Given the description of an element on the screen output the (x, y) to click on. 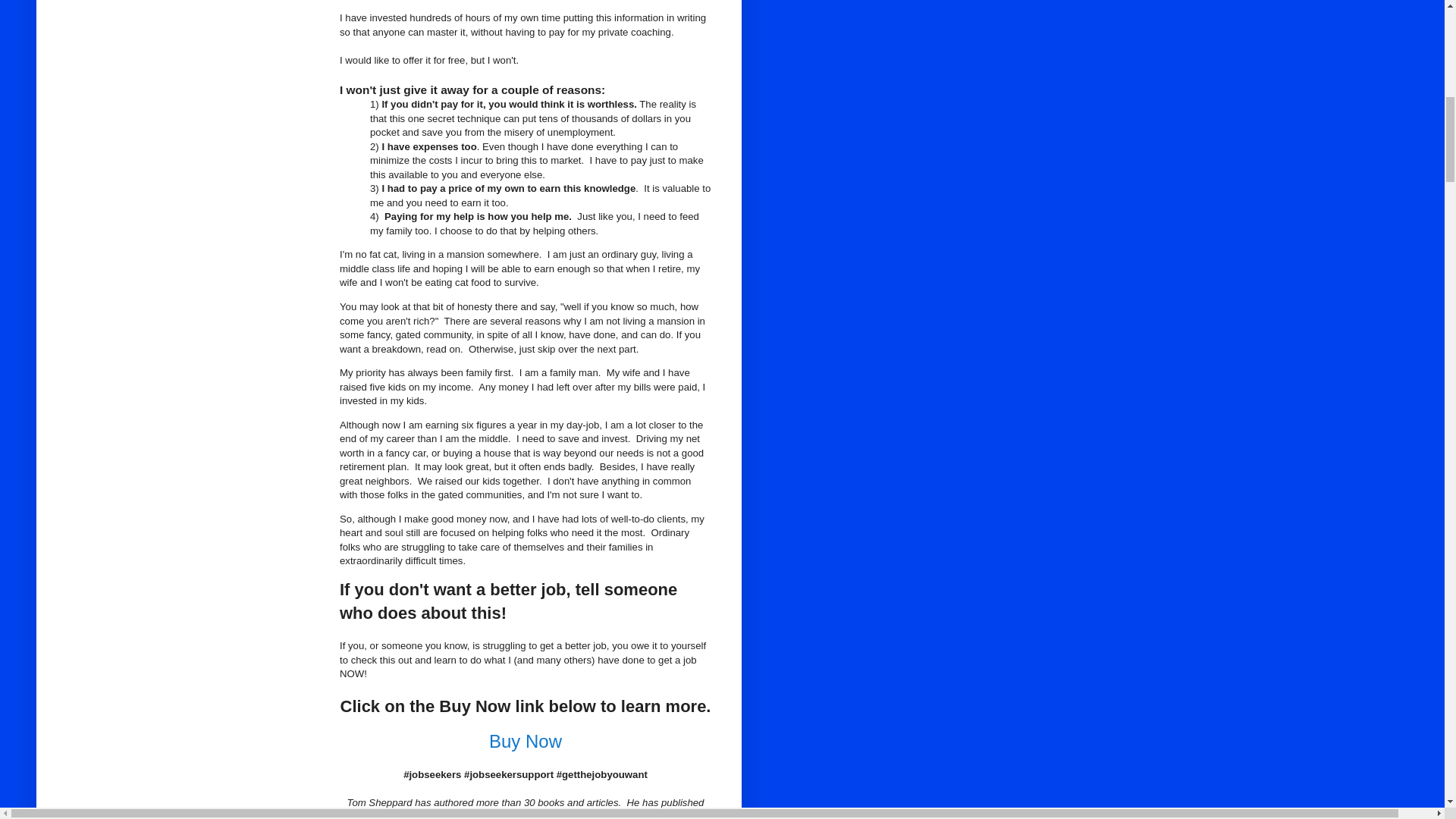
Buy Now (525, 741)
